Given the description of an element on the screen output the (x, y) to click on. 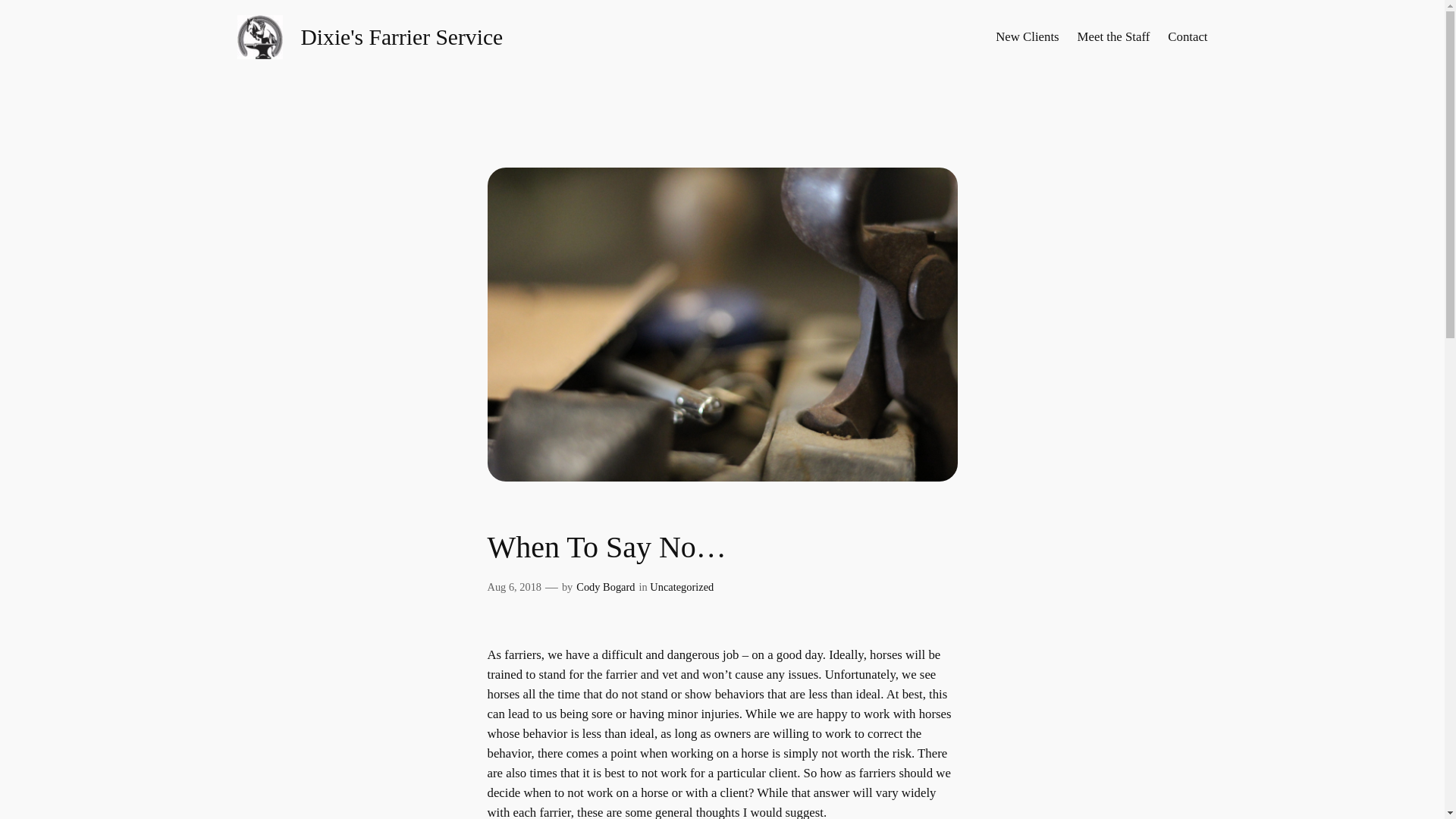
Aug 6, 2018 (513, 586)
Cody Bogard (605, 586)
New Clients (1026, 36)
Dixie's Farrier Service (400, 37)
Contact (1187, 36)
Meet the Staff (1113, 36)
Uncategorized (681, 586)
